Given the description of an element on the screen output the (x, y) to click on. 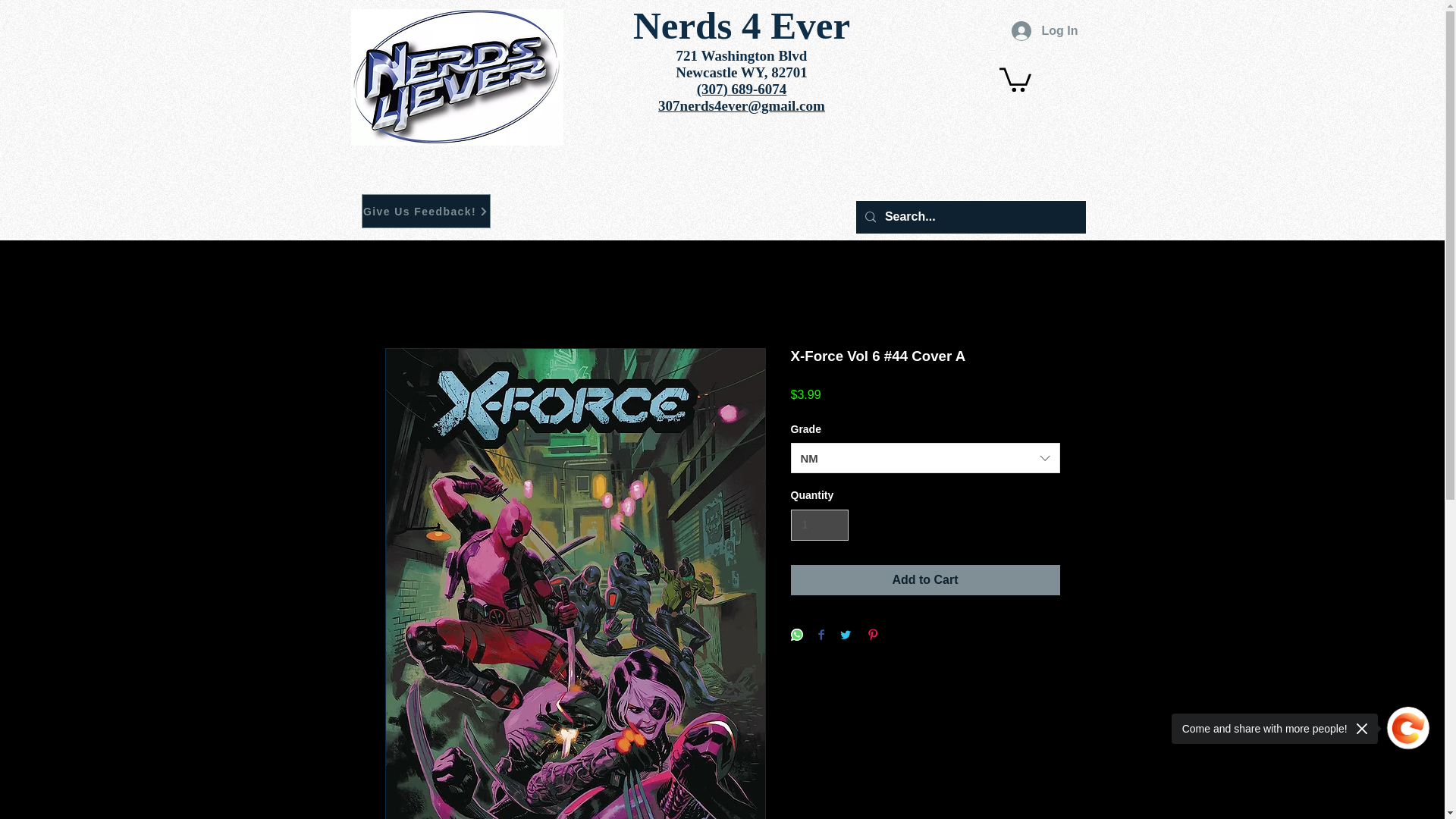
Give Us Feedback! (425, 211)
NM (924, 458)
Log In (1045, 30)
Add to Cart (924, 580)
1 (818, 524)
